Given the description of an element on the screen output the (x, y) to click on. 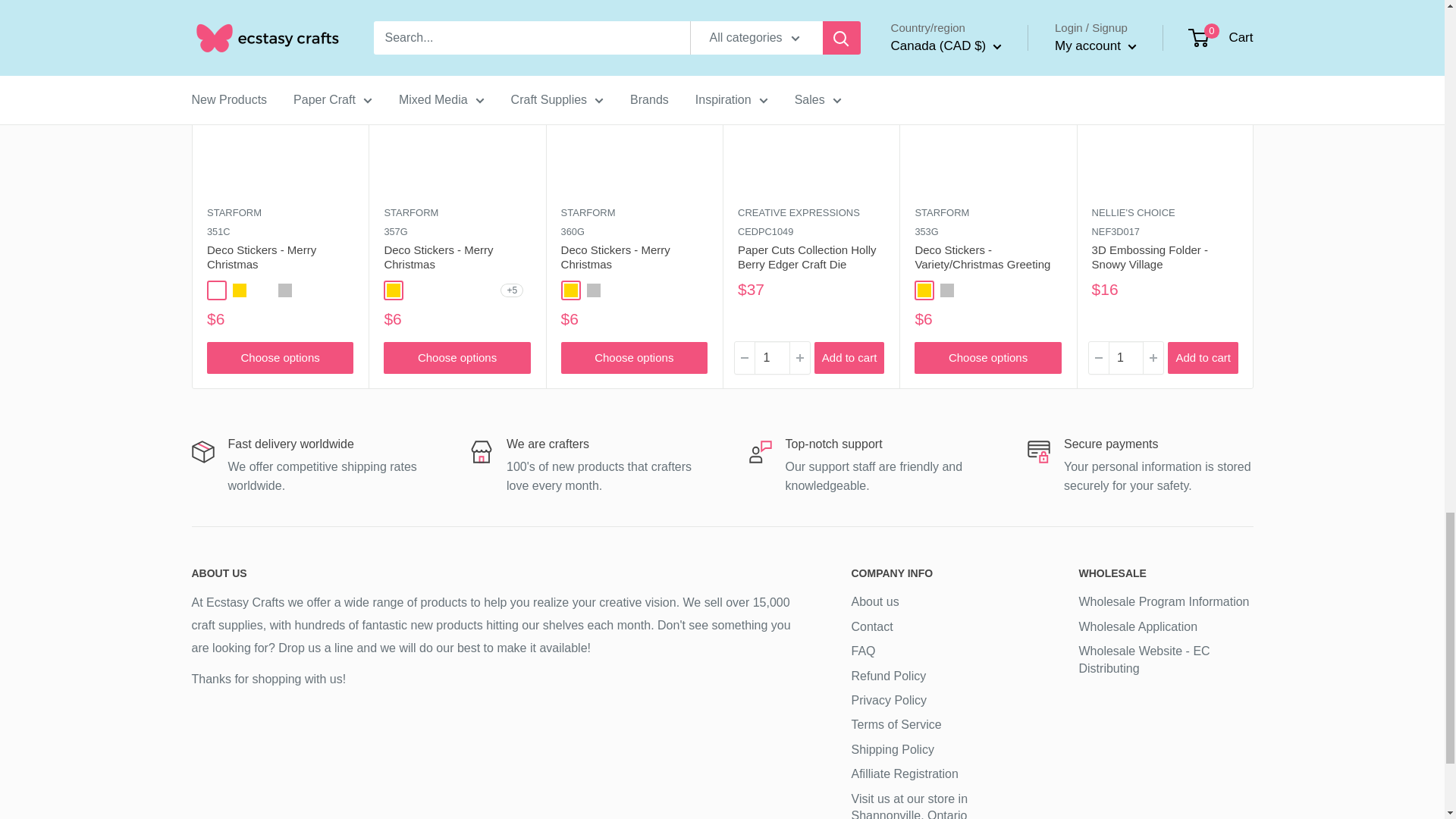
Silver (592, 290)
Copper (215, 290)
1 (771, 357)
Gold (393, 290)
Gold (924, 290)
Silver (284, 290)
Holographic Silver (484, 290)
Multi-Colour (260, 290)
Holographic Red (461, 290)
Gold (238, 290)
